Given the description of an element on the screen output the (x, y) to click on. 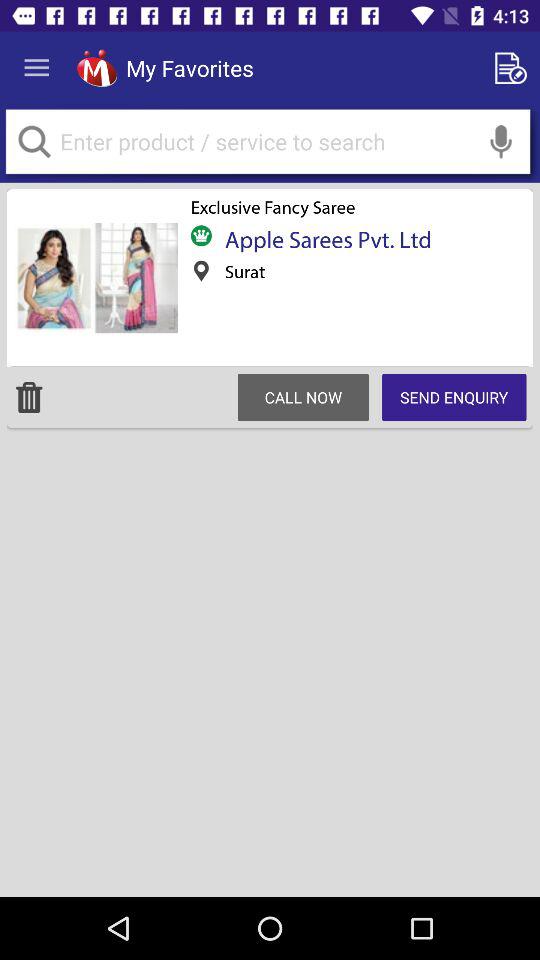
tap send enquiry item (454, 397)
